Given the description of an element on the screen output the (x, y) to click on. 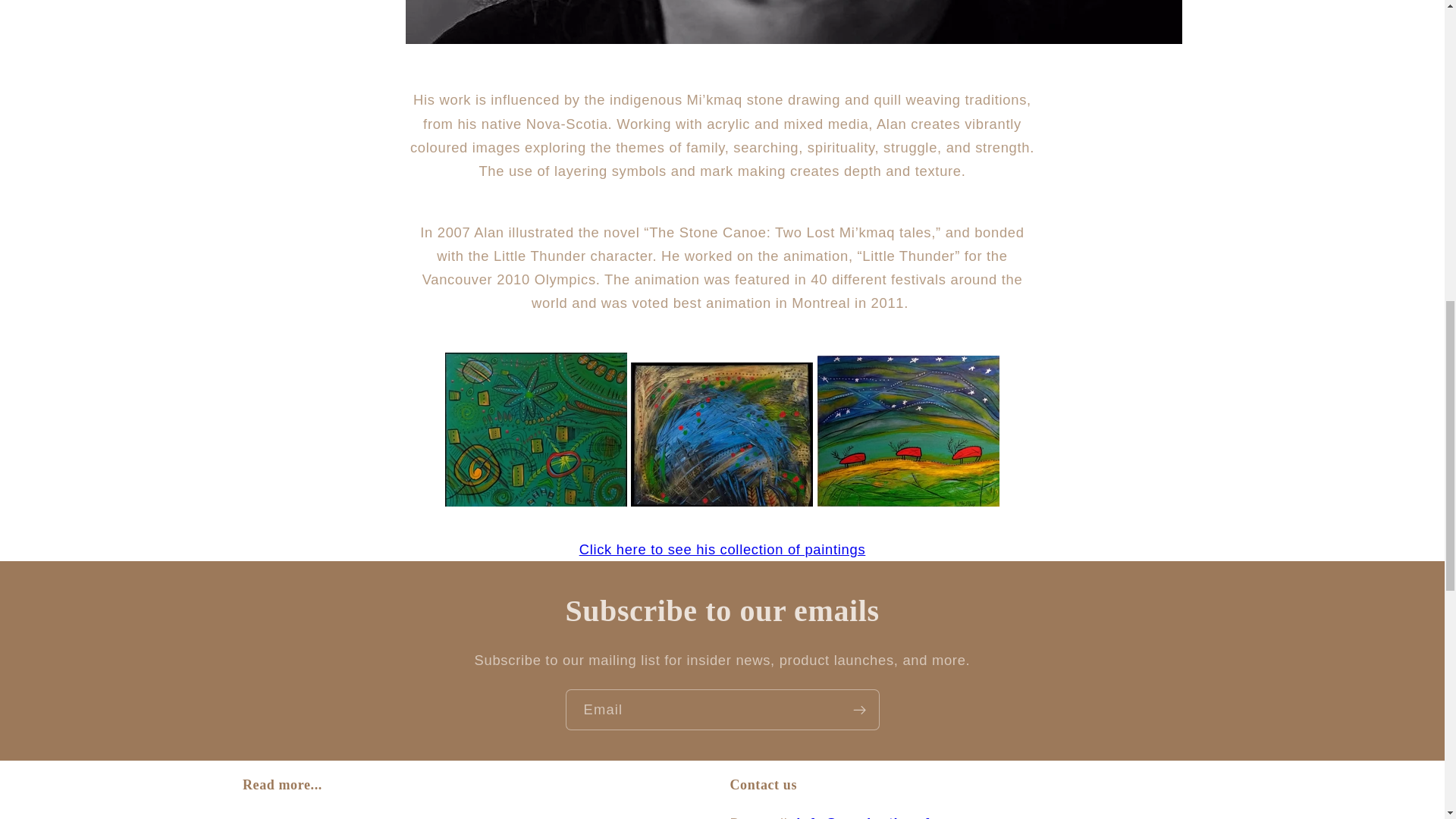
lien vers le tableau (907, 501)
lien vers les tableaux de Alan Syliboy (722, 549)
lien vers le tableau (536, 501)
lien vers ce tableau (721, 501)
